Given the description of an element on the screen output the (x, y) to click on. 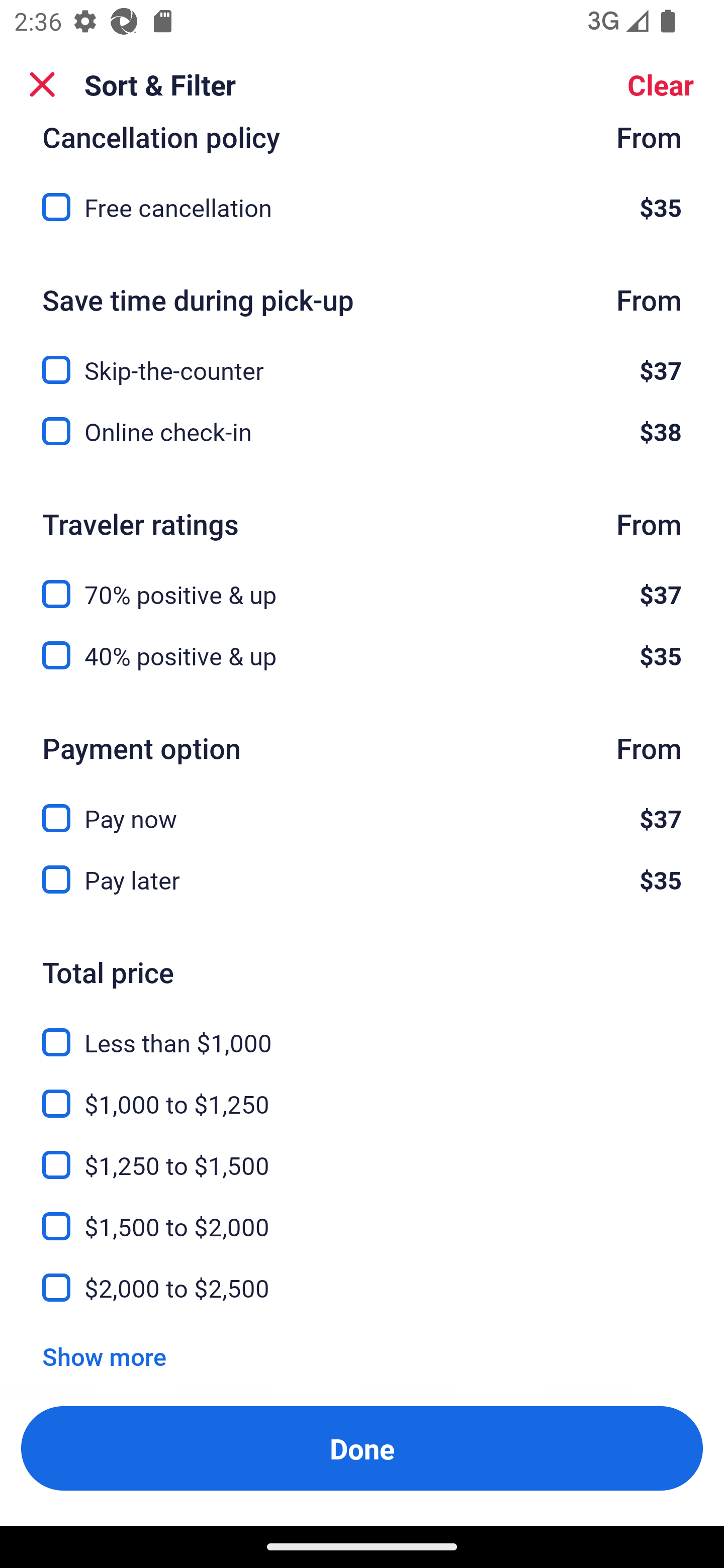
Close Sort and Filter (42, 84)
Clear (660, 84)
Free cancellation, $35 Free cancellation $35 (361, 206)
Skip-the-counter, $37 Skip-the-counter $37 (361, 357)
Online check-in, $38 Online check-in $38 (361, 430)
70% positive & up, $37 70% positive & up $37 (361, 582)
40% positive & up, $35 40% positive & up $35 (361, 655)
Pay now, $37 Pay now $37 (361, 806)
Pay later, $35 Pay later $35 (361, 879)
Less than $1,000, Less than $1,000 (361, 1030)
$1,000 to $1,250, $1,000 to $1,250 (361, 1091)
$1,250 to $1,500, $1,250 to $1,500 (361, 1152)
$1,500 to $2,000, $1,500 to $2,000 (361, 1214)
$2,000 to $2,500, $2,000 to $2,500 (361, 1287)
Show more Show more Link (103, 1355)
Apply and close Sort and Filter Done (361, 1448)
